Given the description of an element on the screen output the (x, y) to click on. 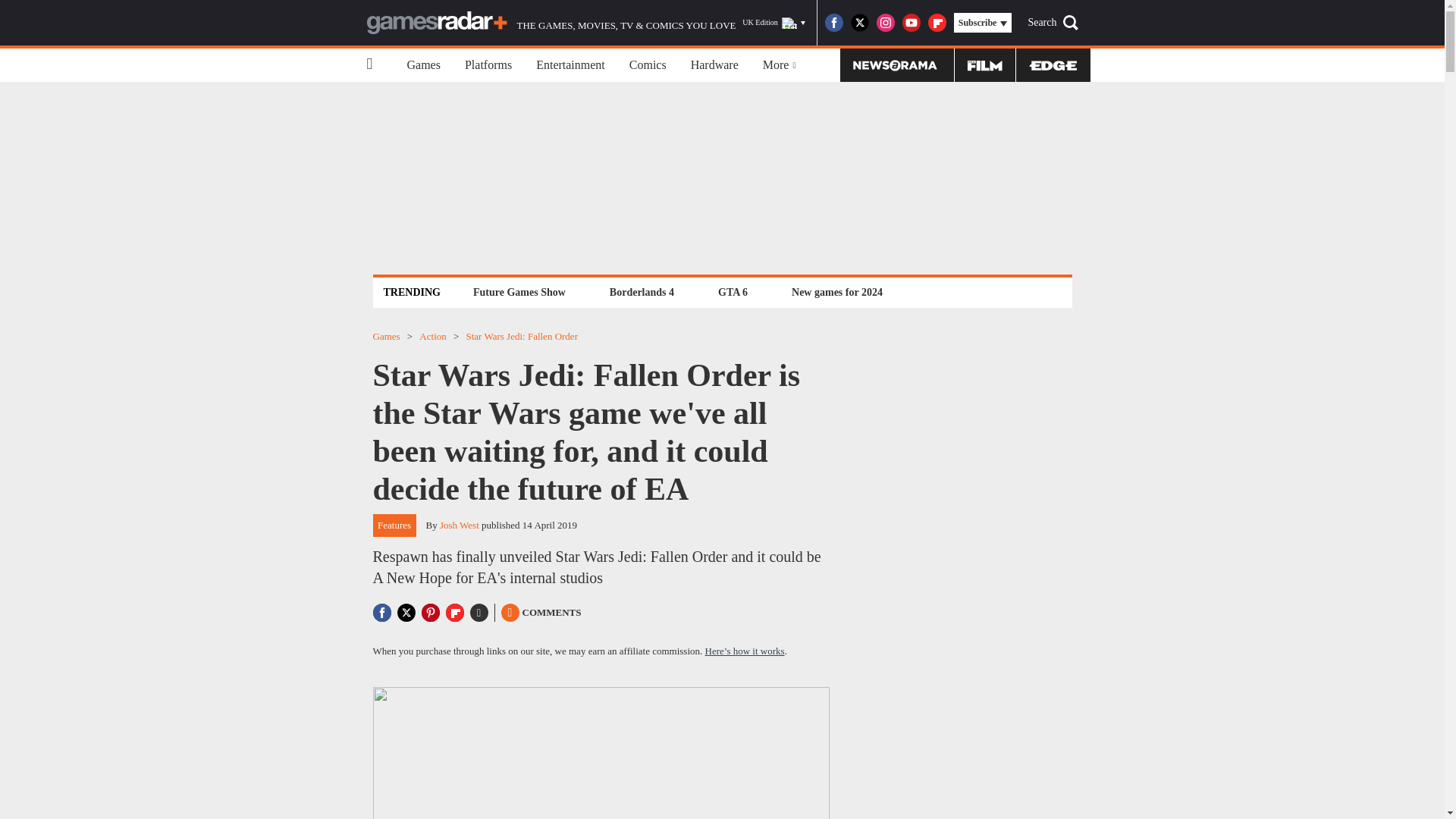
Platforms (488, 64)
Entertainment (570, 64)
UK Edition (773, 22)
Borderlands 4 (641, 292)
New games for 2024 (837, 292)
GTA 6 (732, 292)
Comics (647, 64)
Games (422, 64)
Future Games Show (518, 292)
Hardware (714, 64)
